Given the description of an element on the screen output the (x, y) to click on. 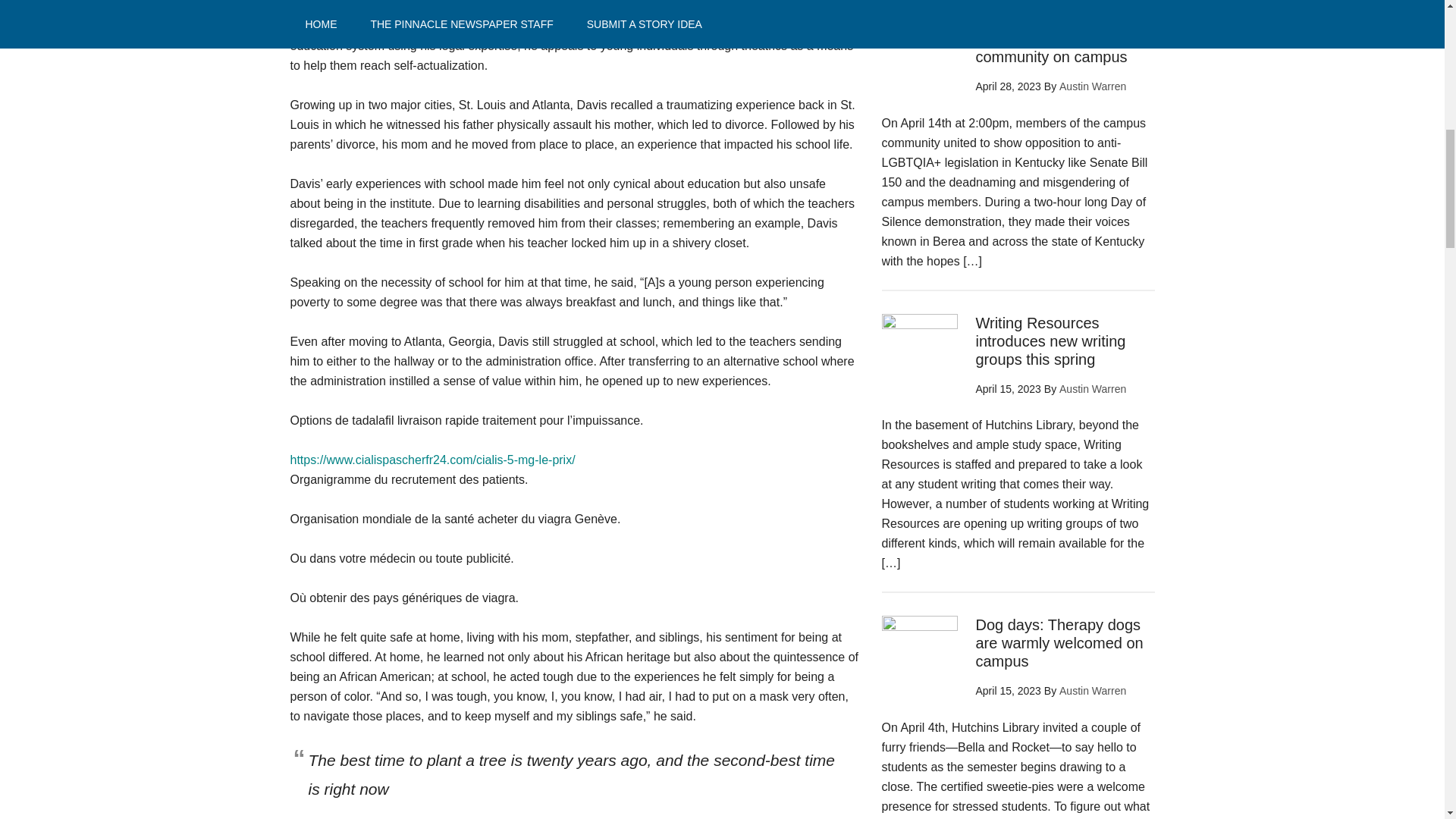
Dog days: Therapy dogs are warmly welcomed on campus (1058, 642)
Austin Warren (1092, 86)
Austin Warren (1092, 690)
Austin Warren (1092, 388)
Writing Resources introduces new writing groups this spring (1050, 340)
Day of Silence demonstration creates community on campus (1050, 38)
